Given the description of an element on the screen output the (x, y) to click on. 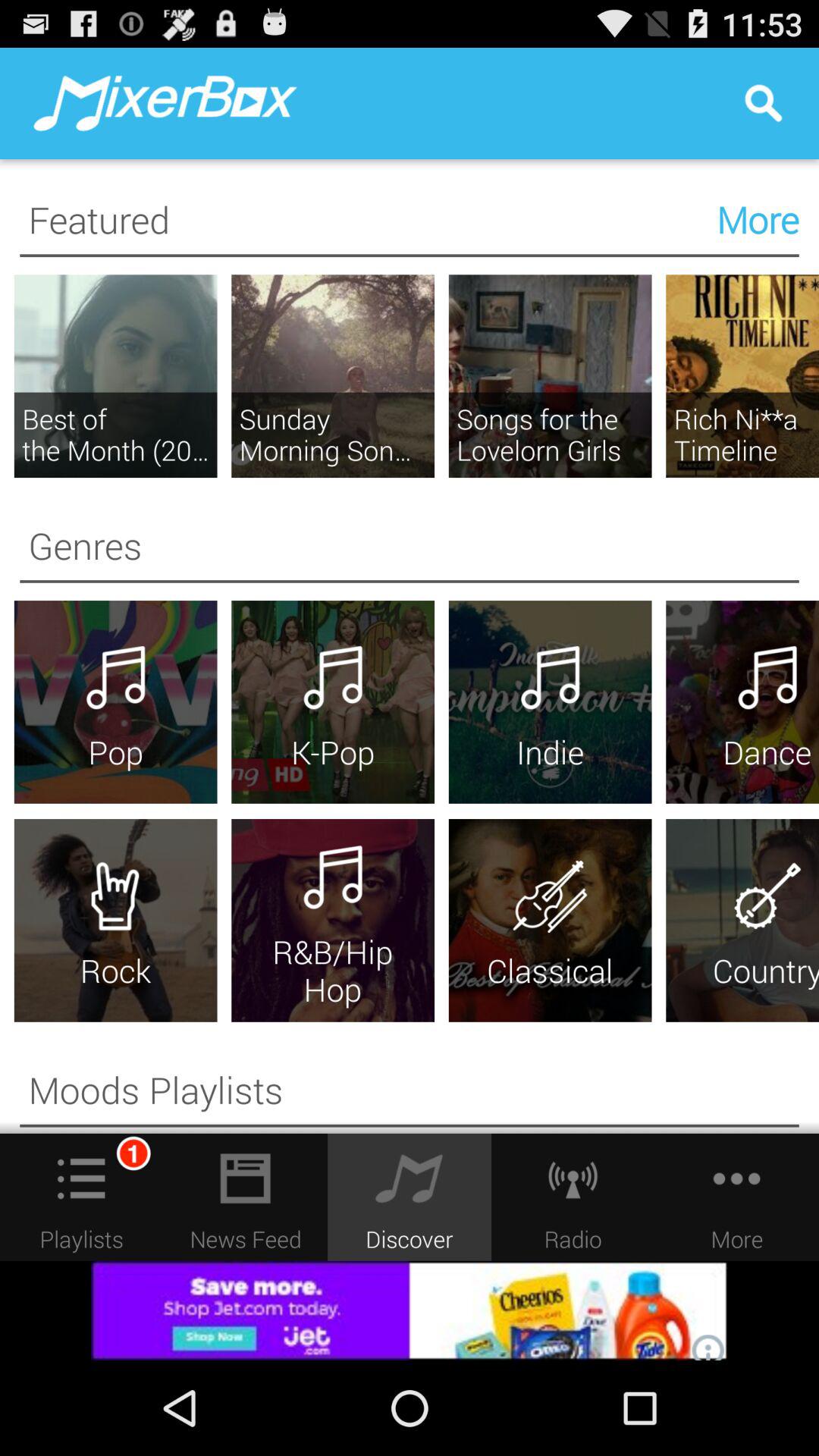
advertisement (409, 1310)
